Given the description of an element on the screen output the (x, y) to click on. 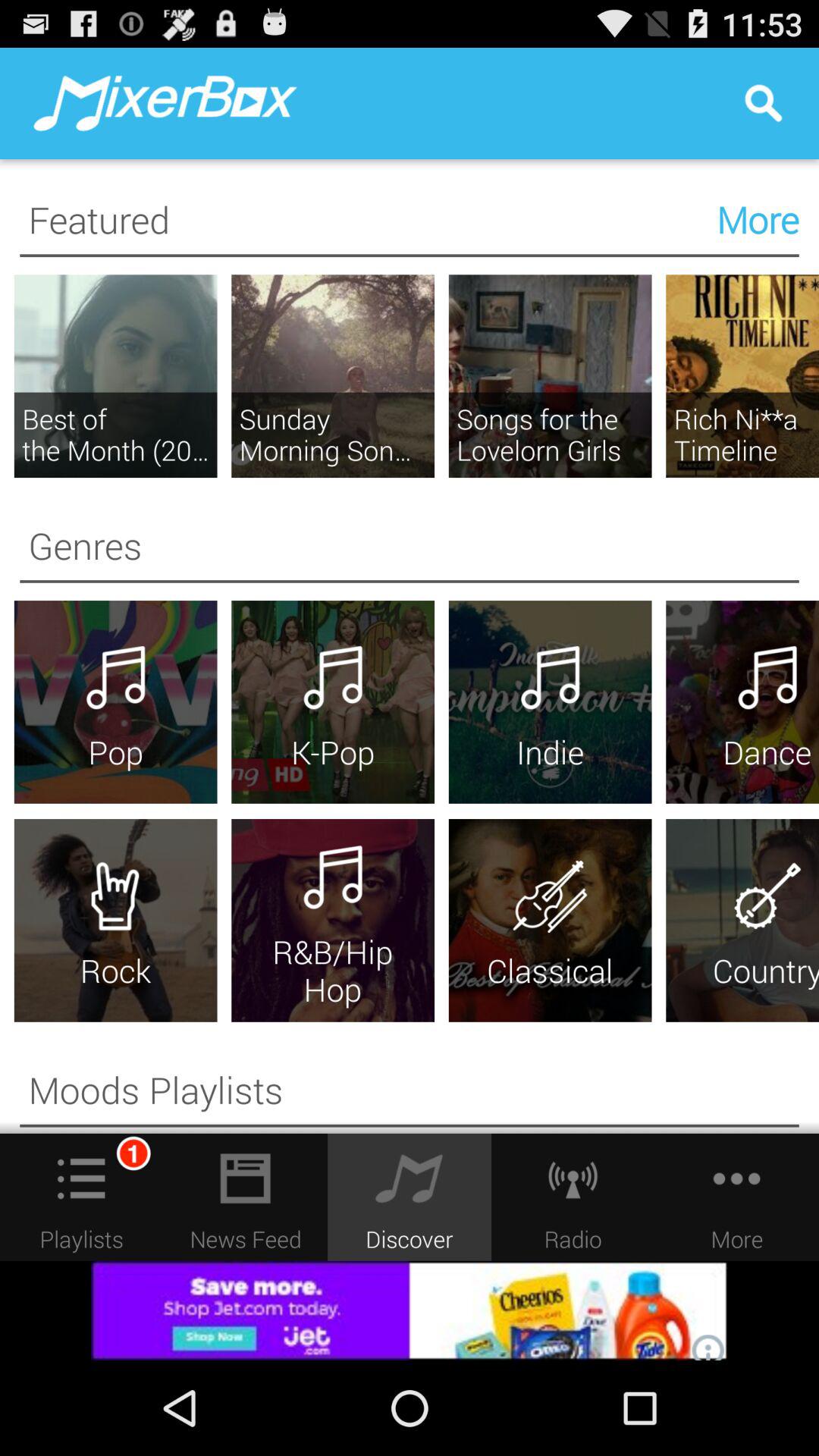
advertisement (409, 1310)
